Given the description of an element on the screen output the (x, y) to click on. 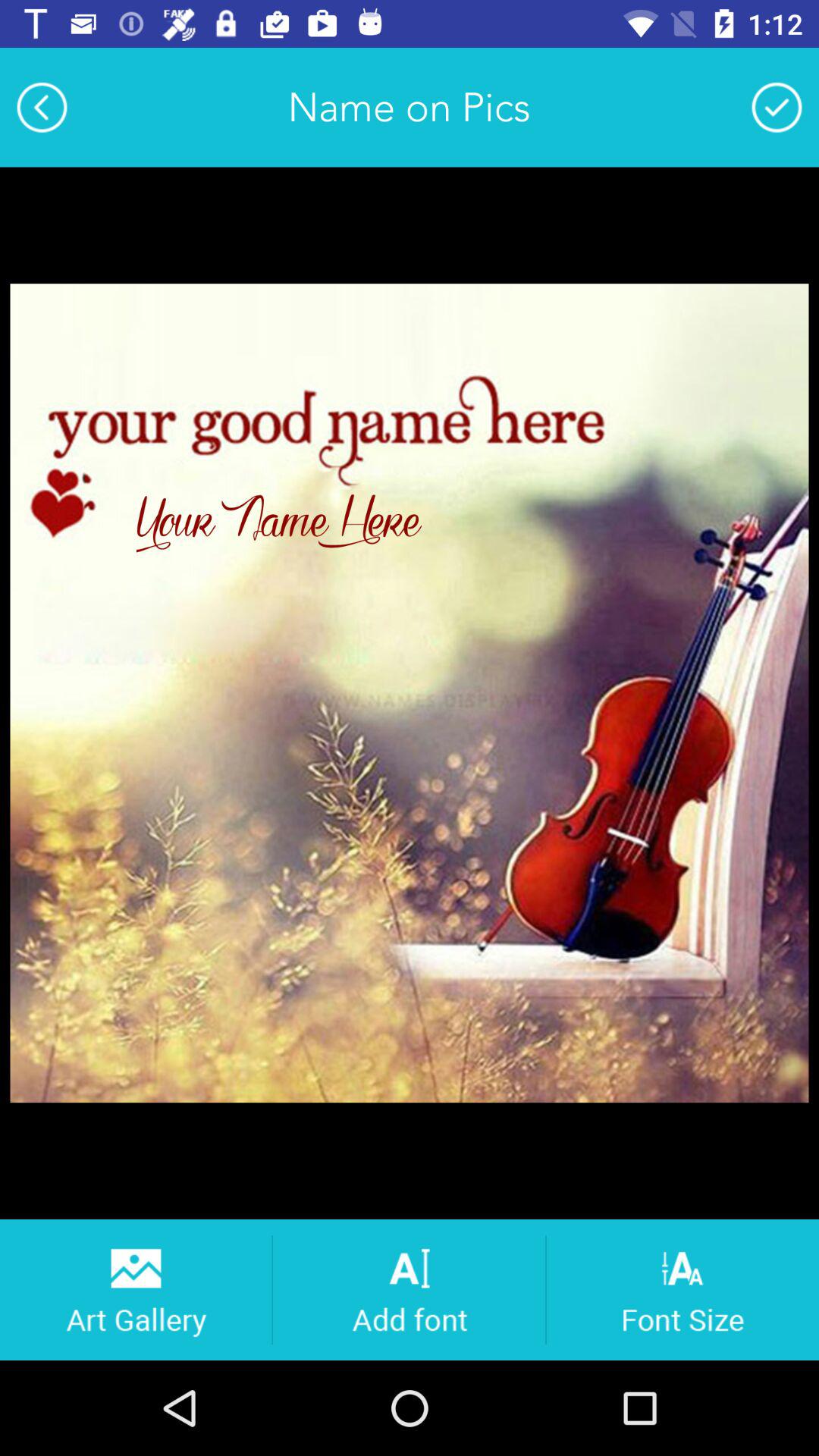
launch item to the left of name on pics icon (41, 107)
